Given the description of an element on the screen output the (x, y) to click on. 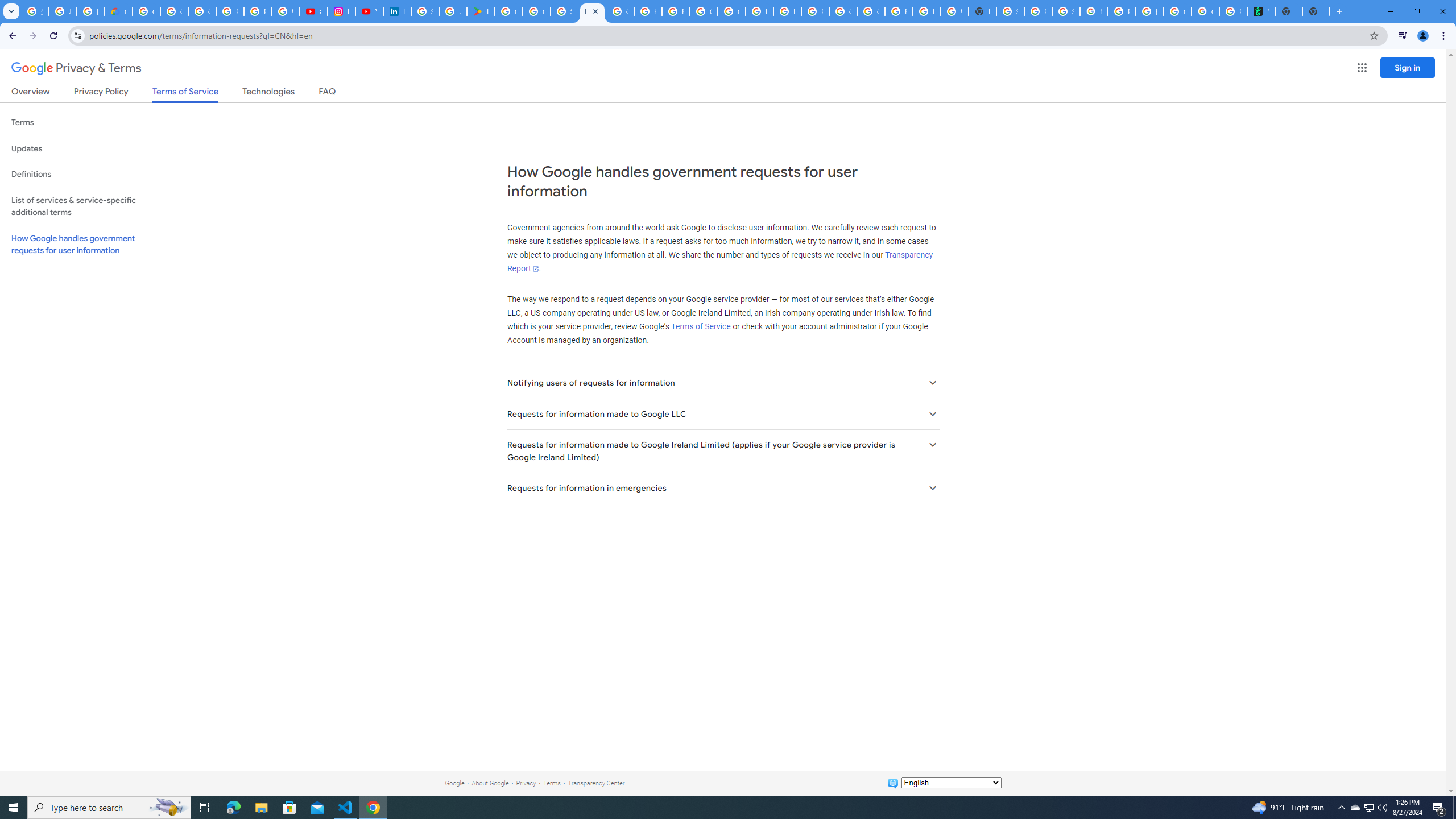
YouTube Culture & Trends - On The Rise: Handcam Videos (369, 11)
Last Shelter: Survival - Apps on Google Play (480, 11)
